Given the description of an element on the screen output the (x, y) to click on. 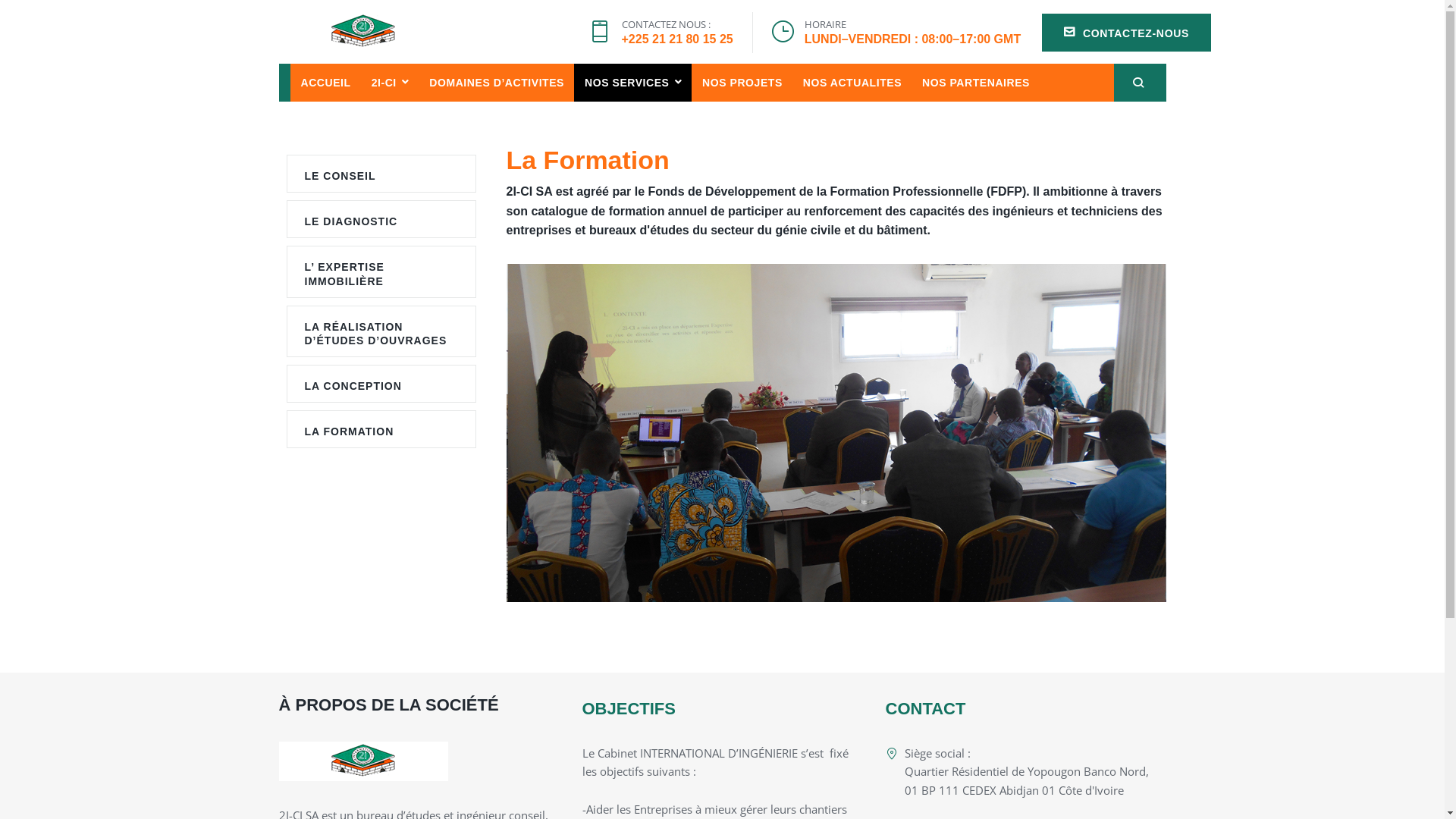
NOS ACTUALITES Element type: text (851, 82)
LA CONCEPTION Element type: text (352, 385)
CONTACTEZ-NOUS Element type: text (1126, 32)
2I-CI Element type: text (389, 82)
NOS SERVICES Element type: text (632, 82)
LA FORMATION Element type: text (349, 431)
NOS PROJETS Element type: text (741, 82)
NOS PARTENAIRES Element type: text (975, 82)
+225 21 21 80 15 25 Element type: text (677, 39)
LE CONSEIL Element type: text (340, 175)
LE DIAGNOSTIC Element type: text (351, 221)
ACCUEIL Element type: text (324, 82)
